Given the description of an element on the screen output the (x, y) to click on. 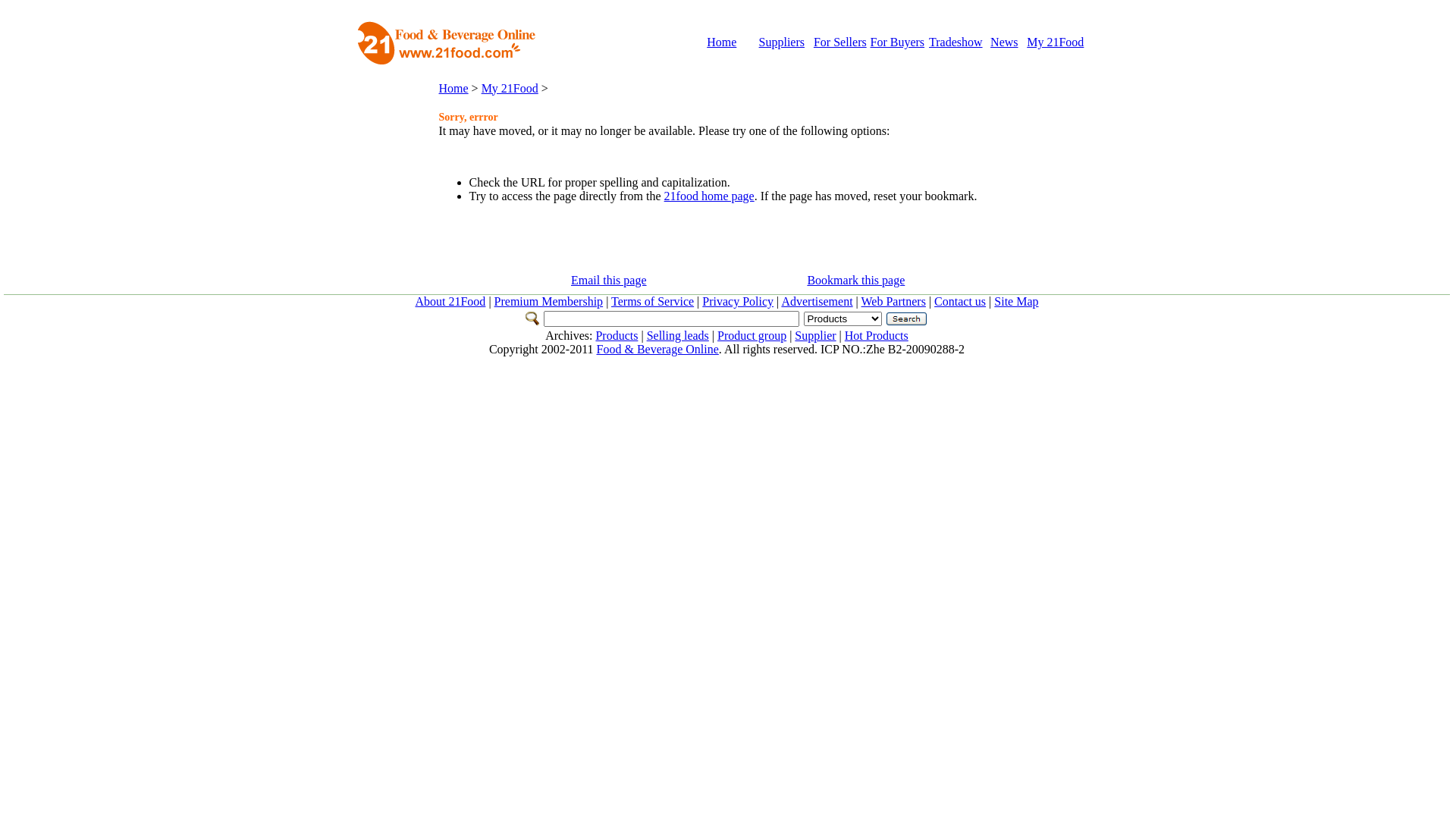
Home Element type: text (452, 87)
For Buyers Element type: text (897, 41)
Contact us Element type: text (959, 300)
My 21Food Element type: text (509, 87)
Site Map Element type: text (1016, 300)
Products Element type: text (616, 335)
News Element type: text (1003, 41)
Product group Element type: text (751, 335)
Selling leads Element type: text (677, 335)
Advertisement Element type: text (816, 300)
Home Element type: text (721, 41)
Privacy Policy Element type: text (737, 300)
Tradeshow Element type: text (955, 41)
For Sellers Element type: text (839, 41)
Food & Beverage Online Element type: text (657, 348)
21food home page Element type: text (709, 195)
Hot Products Element type: text (876, 335)
Email this page Element type: text (608, 279)
About 21Food Element type: text (449, 300)
Bookmark this page Element type: text (855, 279)
Terms of Service Element type: text (652, 300)
Premium Membership Element type: text (548, 300)
Suppliers Element type: text (781, 41)
Supplier Element type: text (814, 335)
My 21Food Element type: text (1054, 41)
Web Partners Element type: text (893, 300)
